Given the description of an element on the screen output the (x, y) to click on. 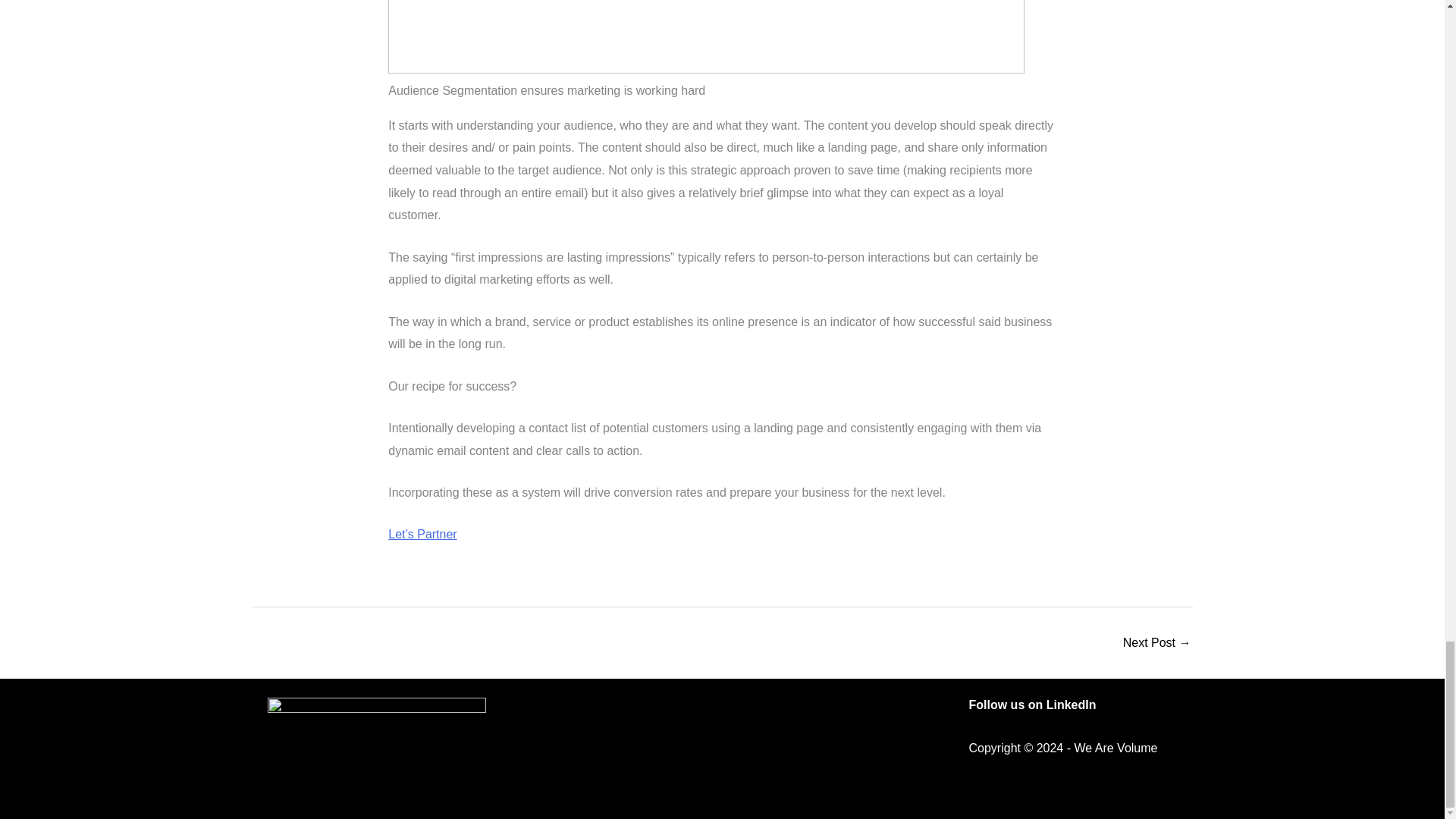
rtner (444, 533)
Creative Staffing (1156, 643)
Follow us on LinkedIn (1032, 704)
